Given the description of an element on the screen output the (x, y) to click on. 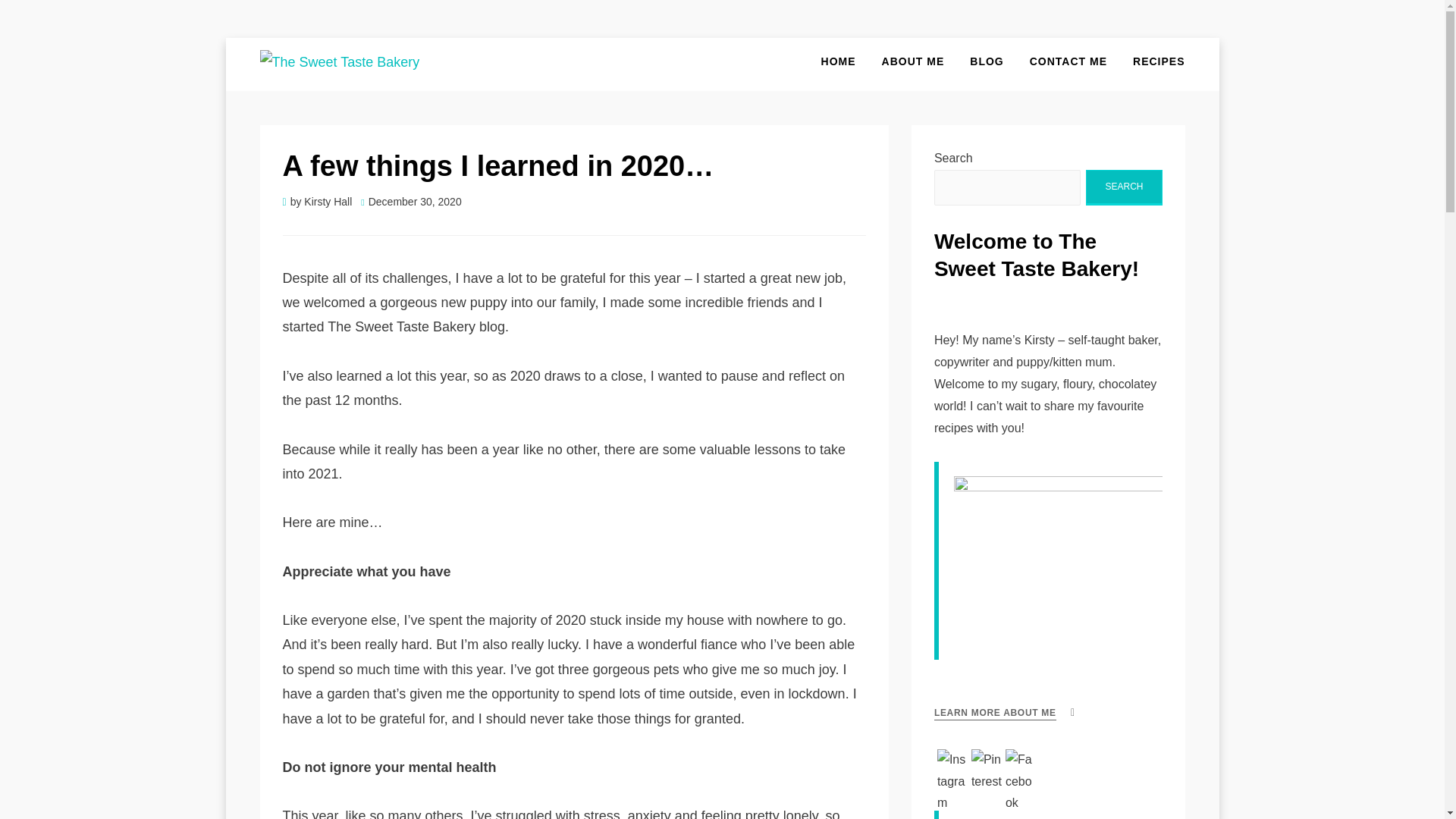
ABOUT ME (913, 61)
LEARN MORE ABOUT ME (995, 712)
December 30, 2020 (411, 201)
CONTACT ME (1067, 61)
Kirsty Hall (328, 201)
SEARCH (1123, 187)
RECIPES (1152, 61)
BLOG (986, 61)
HOME (838, 61)
